Given the description of an element on the screen output the (x, y) to click on. 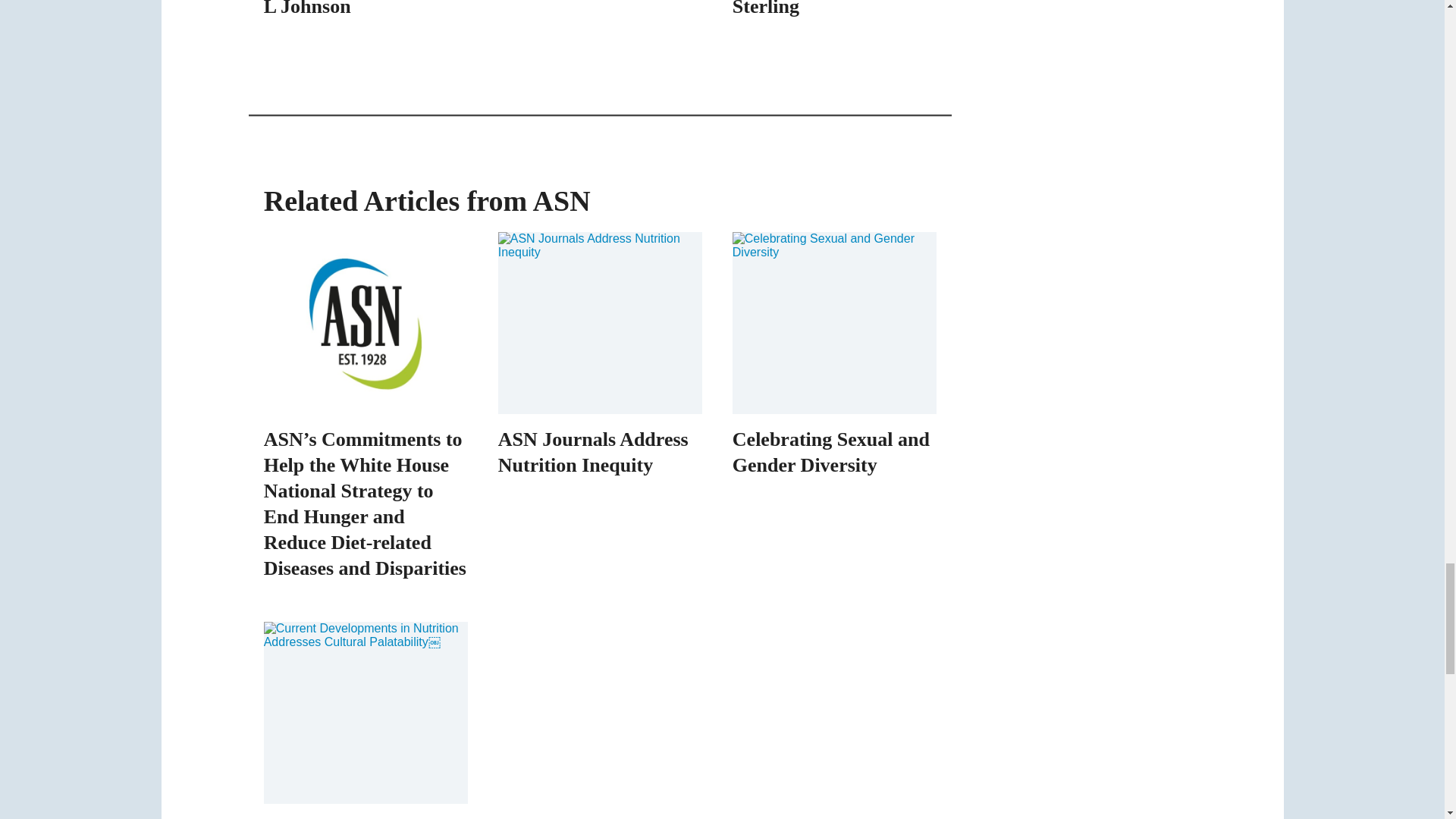
Read Article (599, 2)
Read Article (834, 14)
Read Article (365, 14)
Read Article (365, 720)
